Given the description of an element on the screen output the (x, y) to click on. 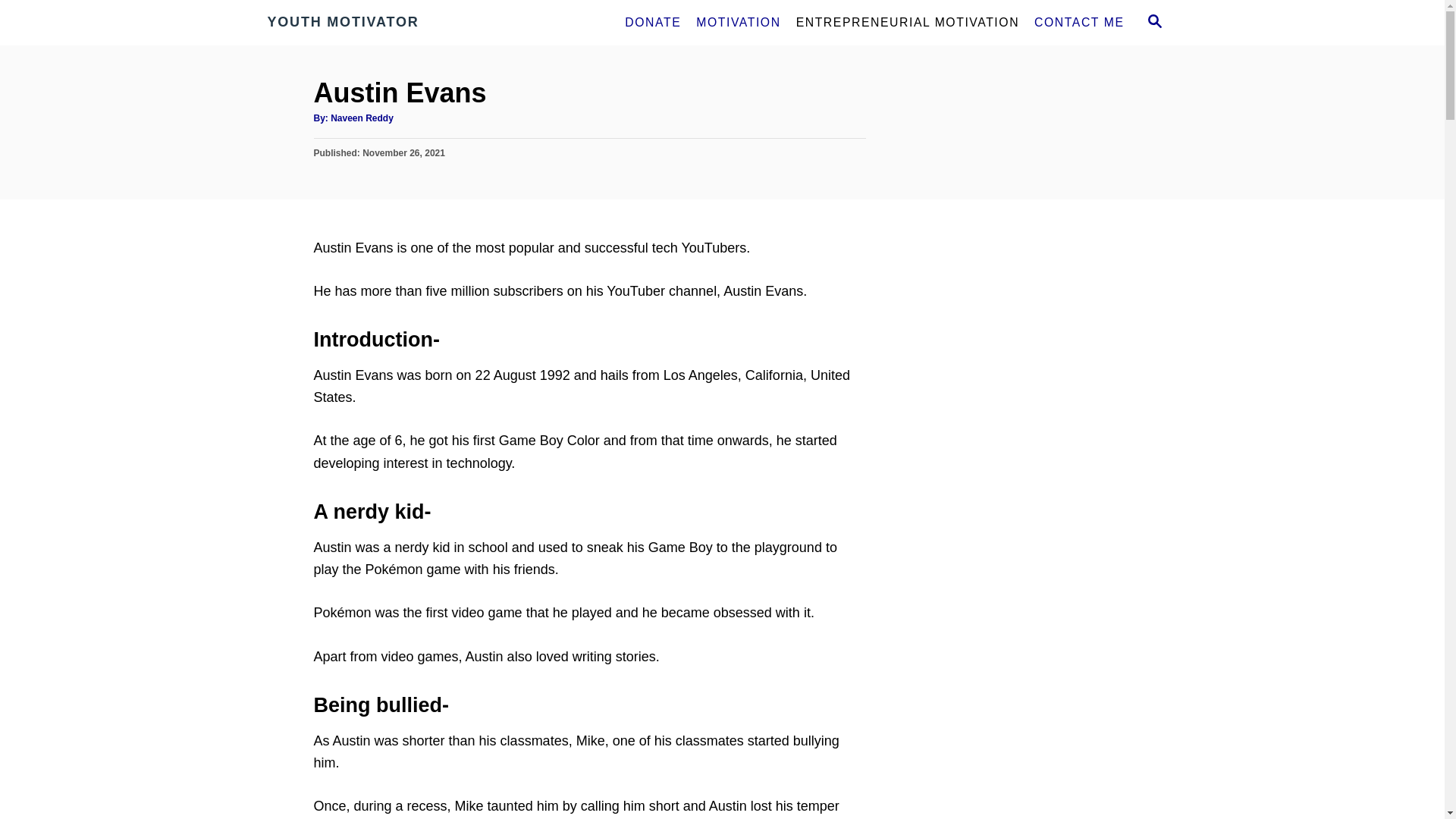
DONATE (652, 22)
CONTACT ME (1078, 22)
ENTREPRENEURIAL MOTIVATION (907, 22)
SEARCH (1153, 22)
YOUTH MOTIVATOR (403, 22)
Youth Motivator (403, 22)
Naveen Reddy (361, 118)
MOTIVATION (737, 22)
